Given the description of an element on the screen output the (x, y) to click on. 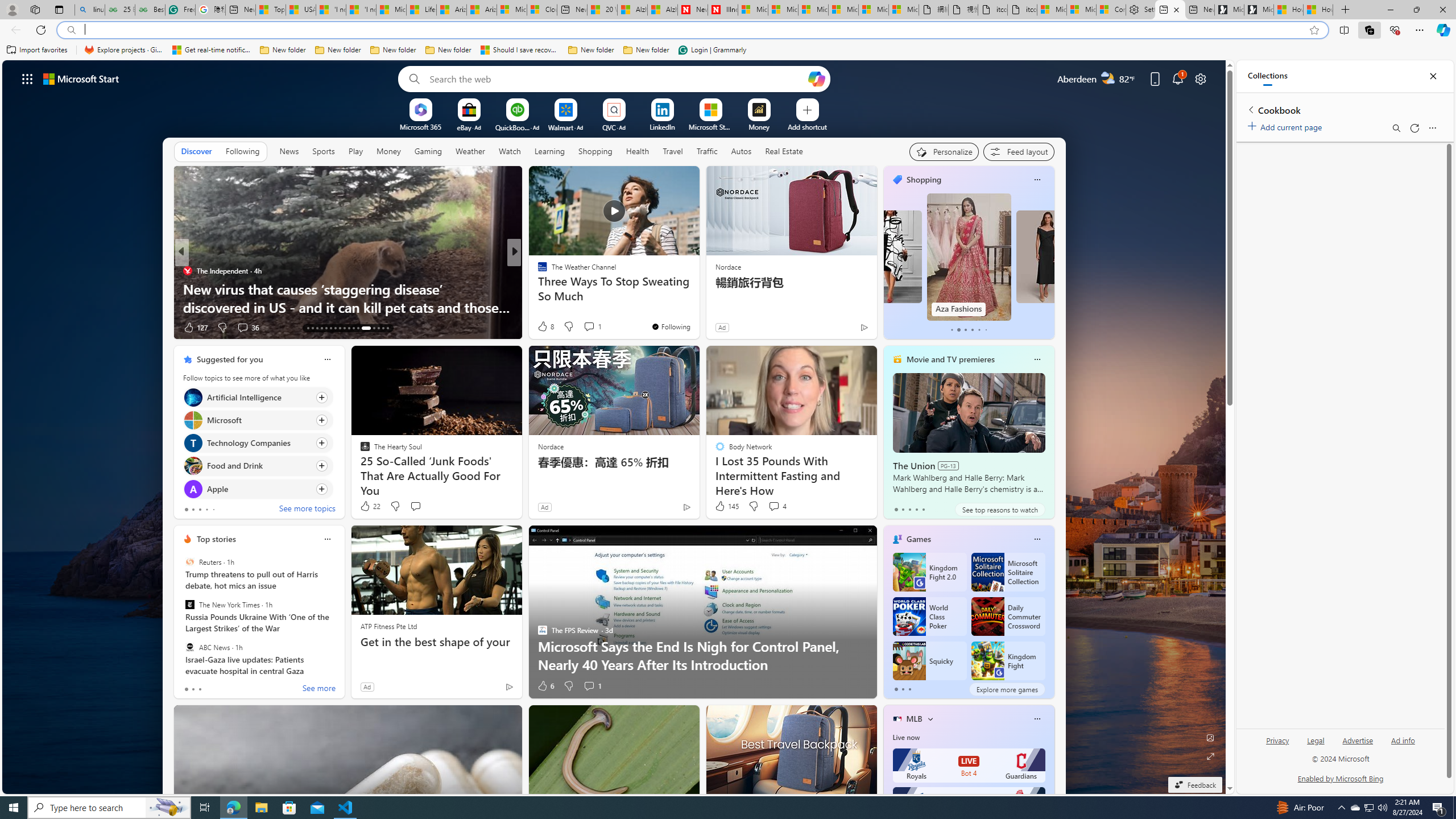
25 Basic Linux Commands For Beginners - GeeksforGeeks (119, 9)
Wealth of Geeks (537, 270)
View comments 4 Comment (776, 505)
linux basic - Search (89, 9)
Login | Grammarly (712, 49)
Search icon (70, 29)
Consumer Health Data Privacy Policy (1111, 9)
Illness news & latest pictures from Newsweek.com (722, 9)
